Given the description of an element on the screen output the (x, y) to click on. 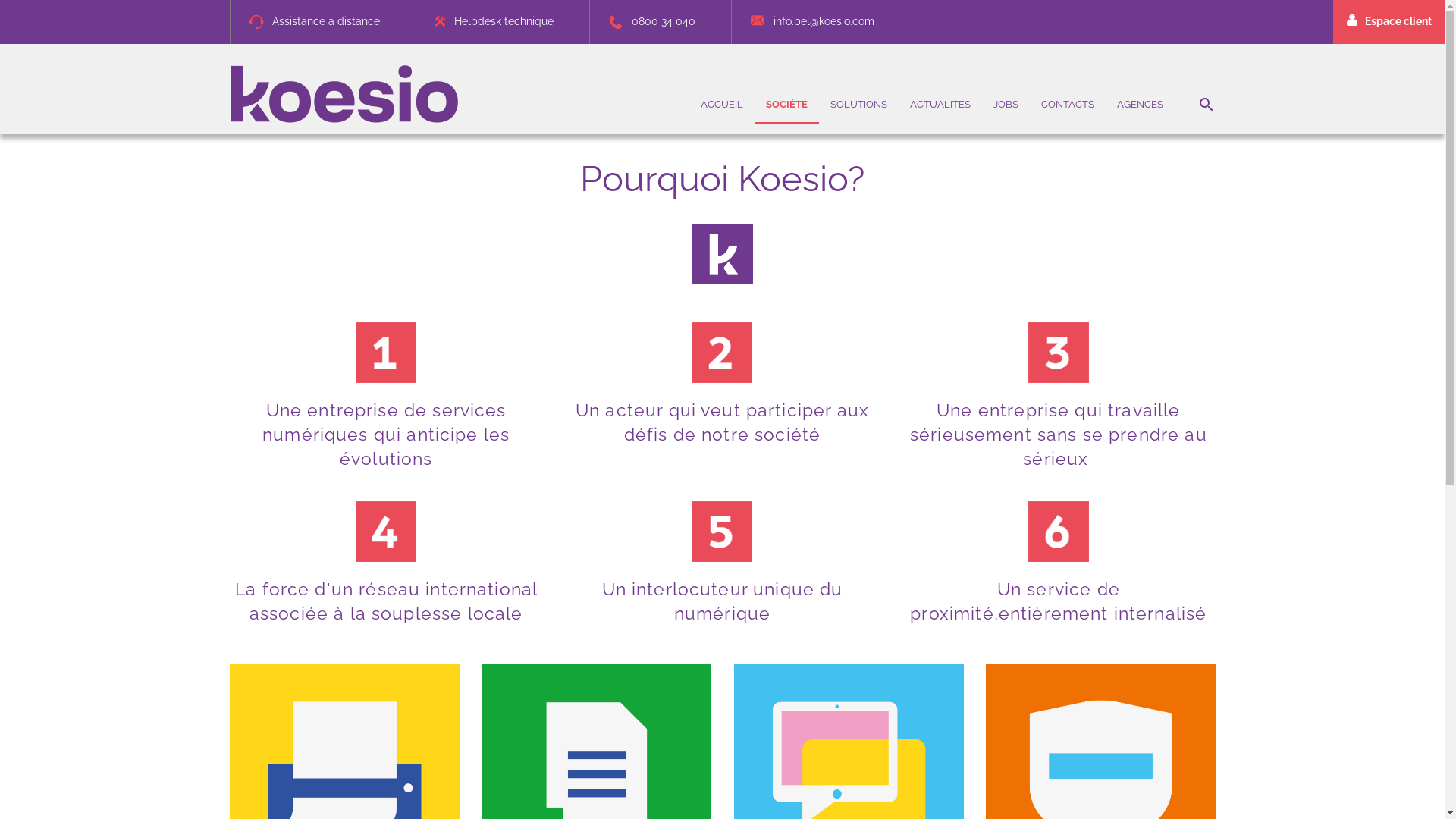
SEARCH Element type: text (1205, 104)
info.bel@koesio.com Element type: text (807, 21)
Connexion Element type: text (1237, 260)
CONTACTS Element type: text (1067, 104)
SOLUTIONS Element type: text (858, 104)
Helpdesk technique Element type: text (489, 21)
ACCUEIL Element type: text (720, 104)
0800 34 040 Element type: text (646, 21)
AGENCES Element type: text (1139, 104)
JOBS Element type: text (1005, 104)
